Given the description of an element on the screen output the (x, y) to click on. 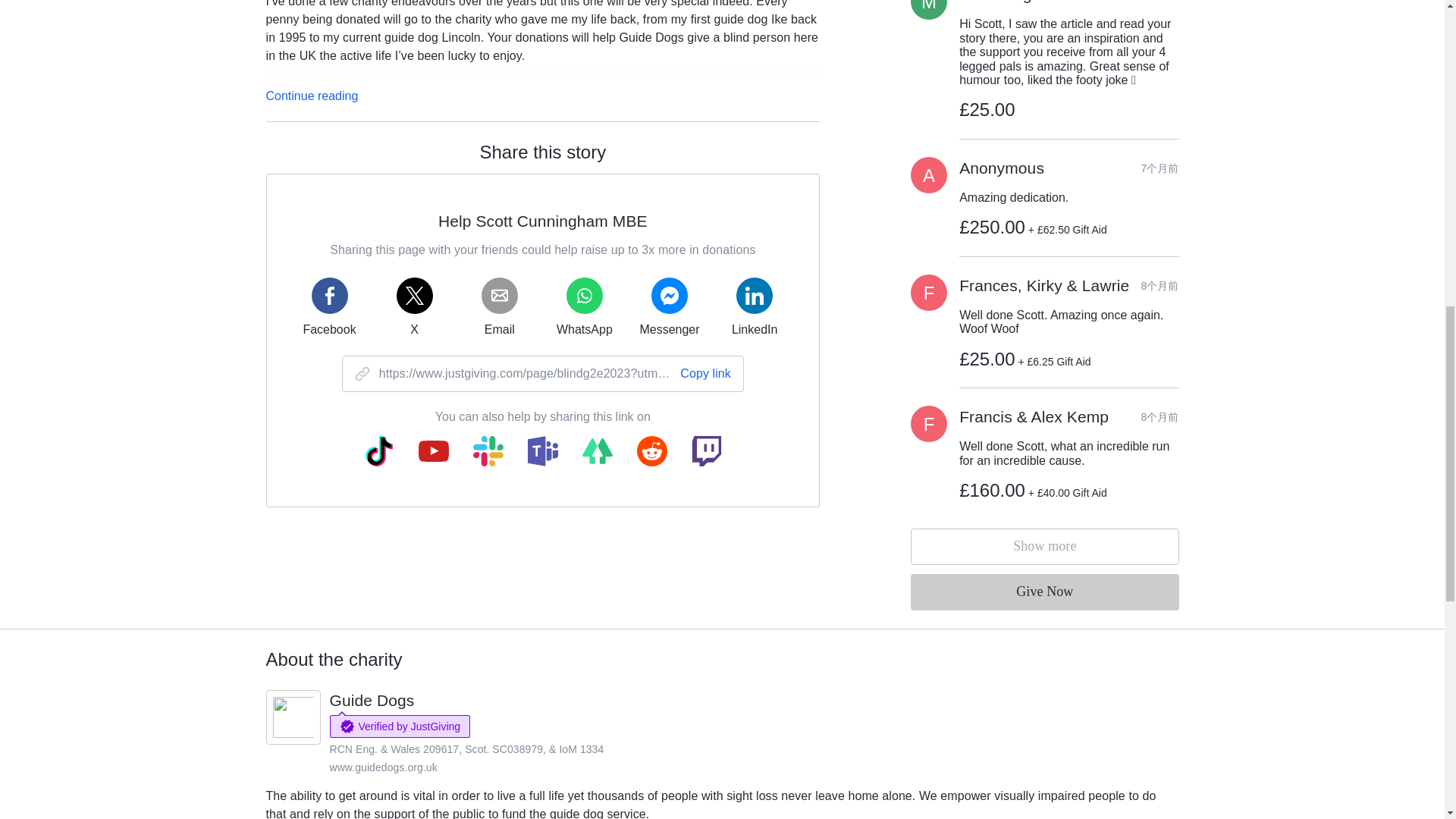
X (414, 306)
Continue reading (311, 95)
LinkedIn (754, 306)
WhatsApp (584, 306)
Email (499, 306)
Messenger (669, 306)
Facebook (329, 306)
